Given the description of an element on the screen output the (x, y) to click on. 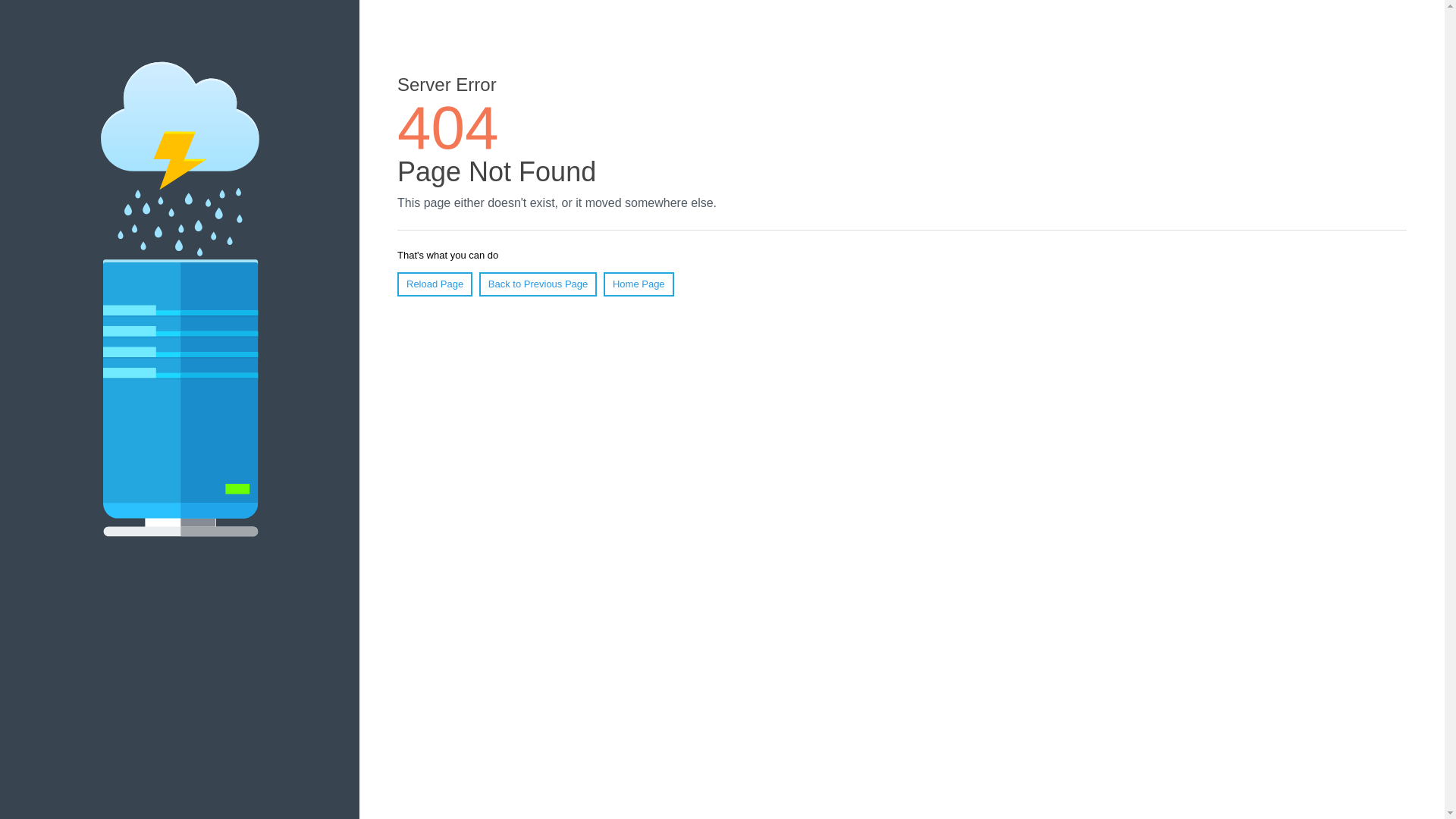
Back to Previous Page Element type: text (538, 284)
Reload Page Element type: text (434, 284)
Home Page Element type: text (638, 284)
